Given the description of an element on the screen output the (x, y) to click on. 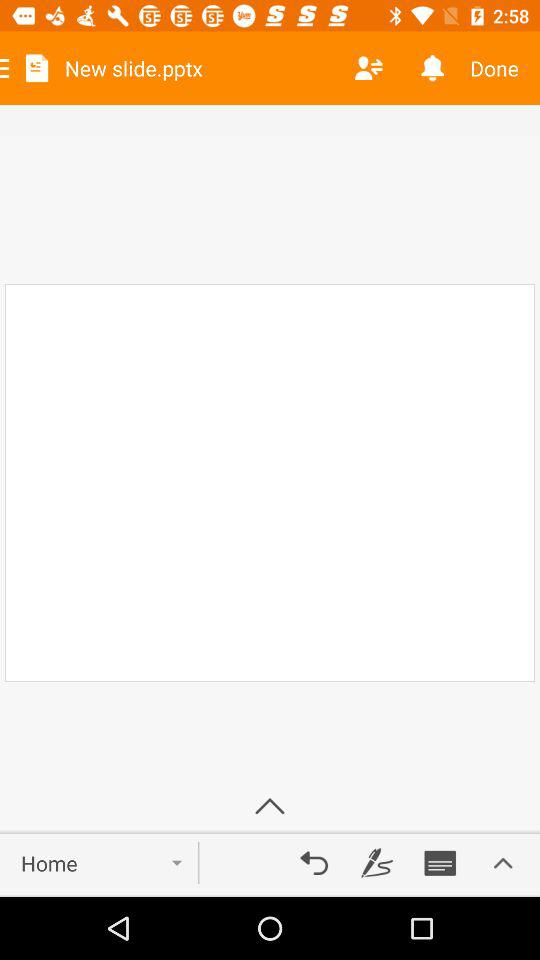
go back (314, 863)
